Given the description of an element on the screen output the (x, y) to click on. 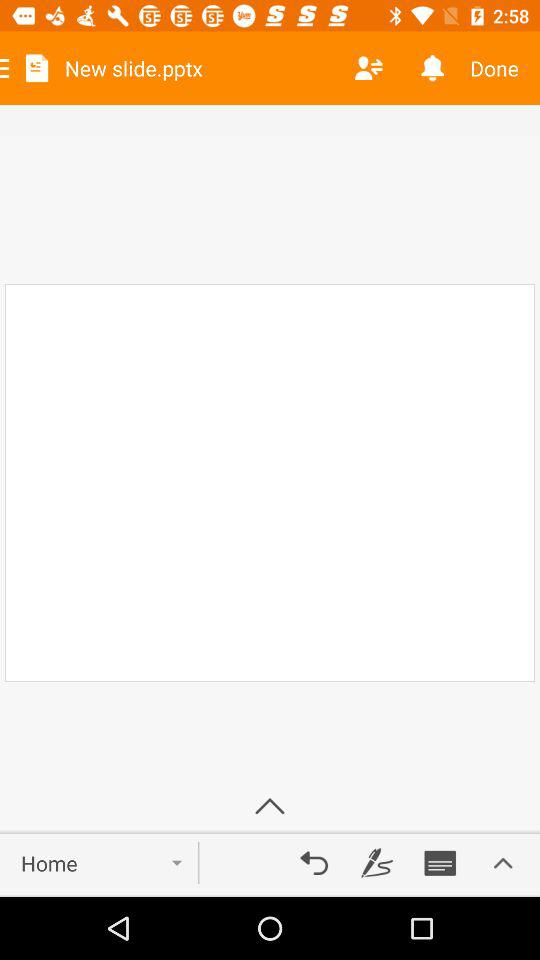
go back (314, 863)
